Given the description of an element on the screen output the (x, y) to click on. 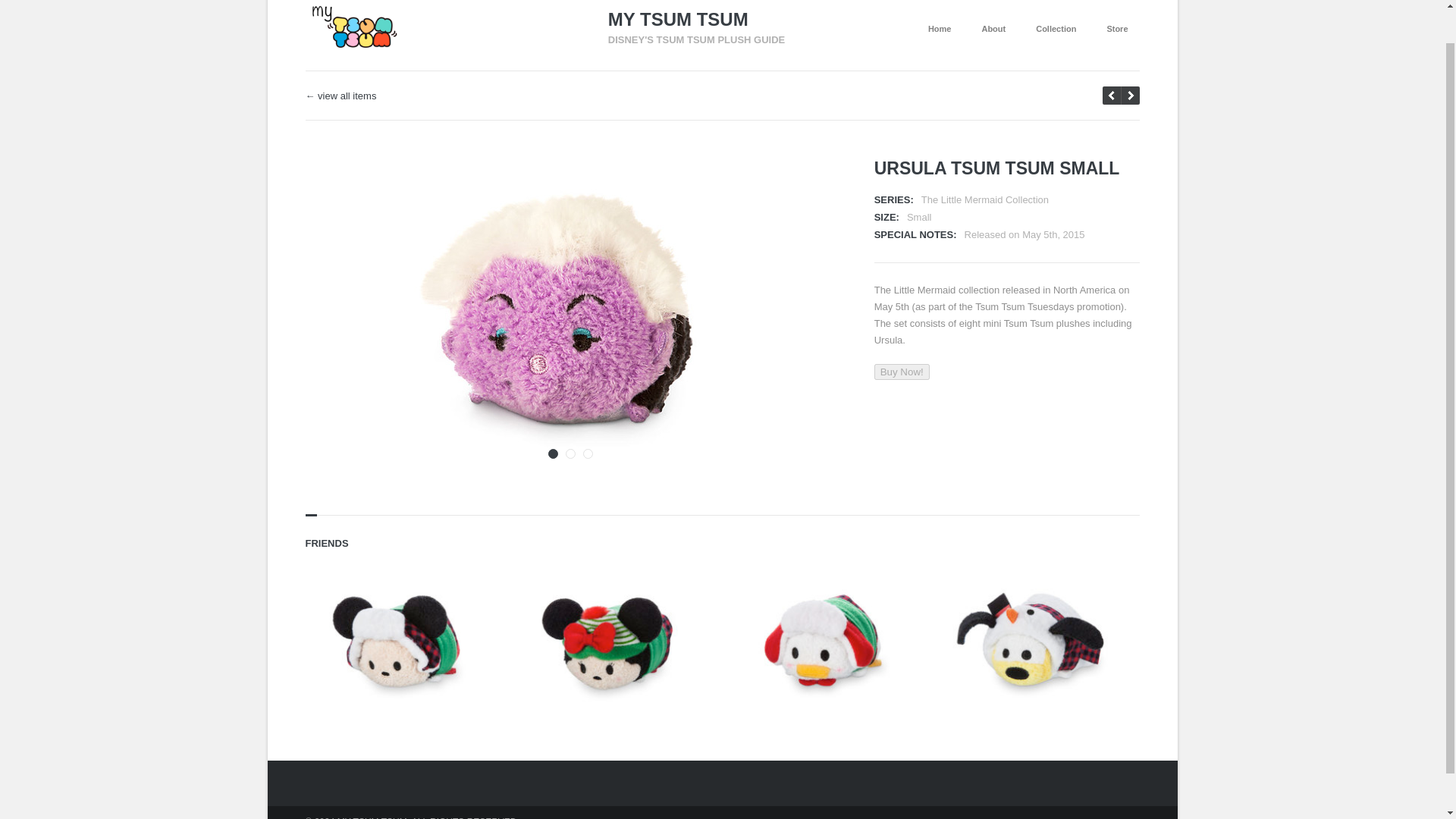
Store (1116, 29)
URSULA TSUM TSUM SMALL (997, 168)
Buy Now! (902, 371)
next (1111, 95)
3 (587, 453)
MY TSUM TSUM (697, 19)
Home (939, 29)
prev (1130, 95)
About (992, 29)
Collection (1056, 29)
